Given the description of an element on the screen output the (x, y) to click on. 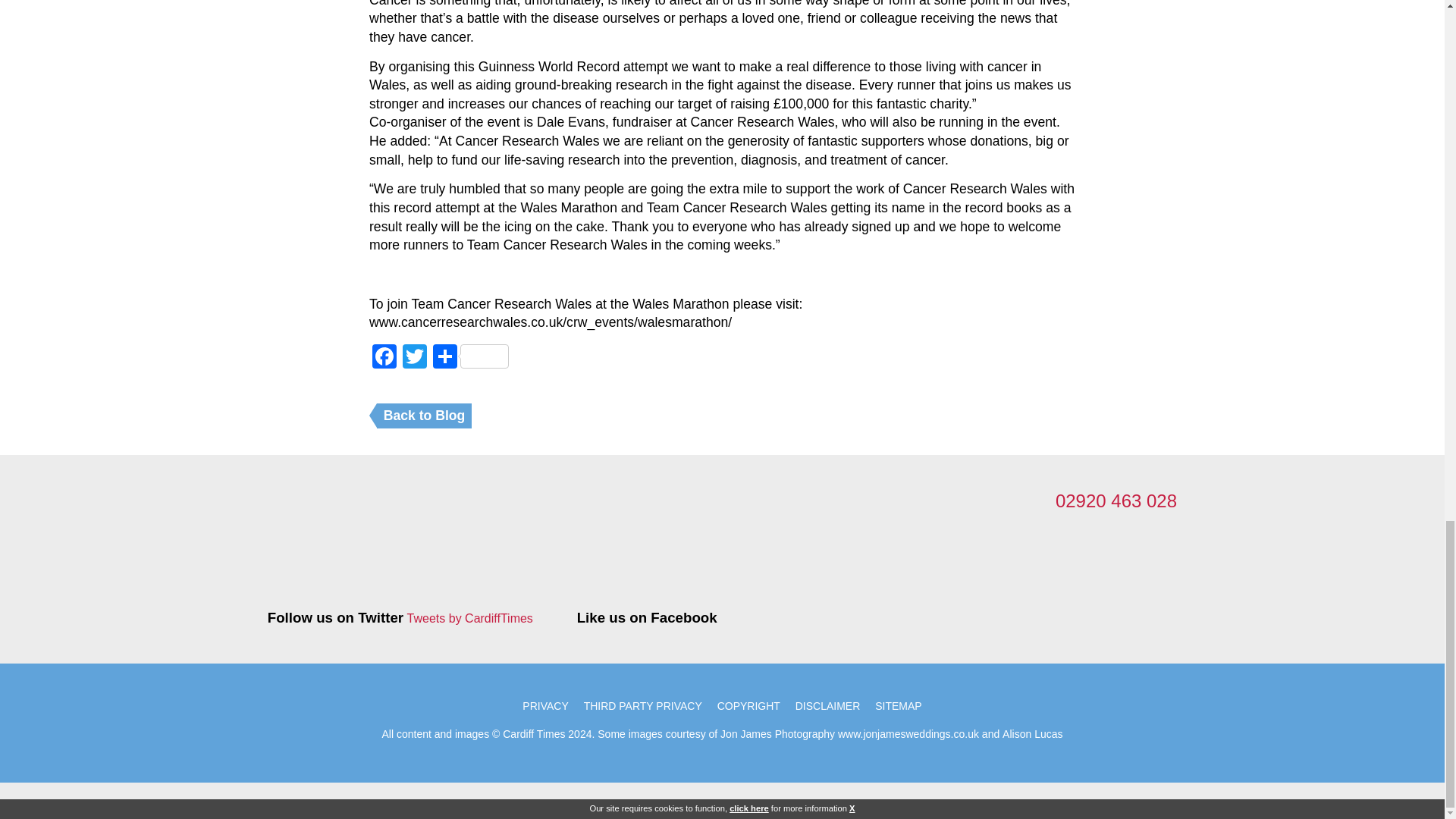
Back to Blog (424, 415)
PRIVACY (544, 705)
DISCLAIMER (827, 705)
Tweets by CardiffTimes (469, 618)
Facebook (383, 357)
Twitter (413, 357)
Twitter (413, 357)
Share (470, 357)
THIRD PARTY PRIVACY (642, 705)
COPYRIGHT (748, 705)
SITEMAP (898, 705)
02920 463 028 (1115, 500)
Facebook (383, 357)
